Given the description of an element on the screen output the (x, y) to click on. 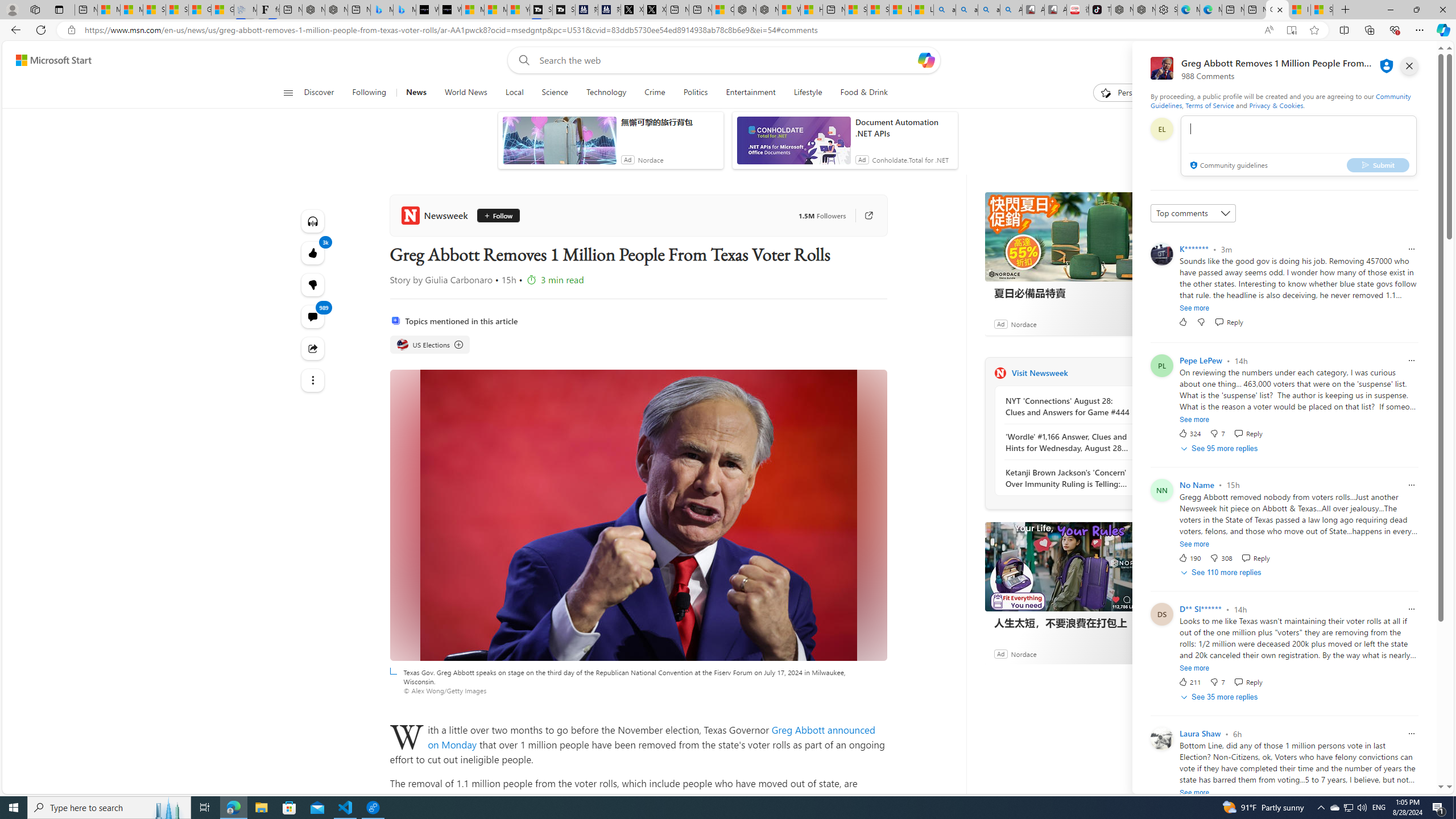
comment-box (1298, 145)
Microsoft Bing Travel - Stays in Bangkok, Bangkok, Thailand (381, 9)
Profile Picture (1161, 739)
Politics (695, 92)
Report comment (1411, 733)
